Given the description of an element on the screen output the (x, y) to click on. 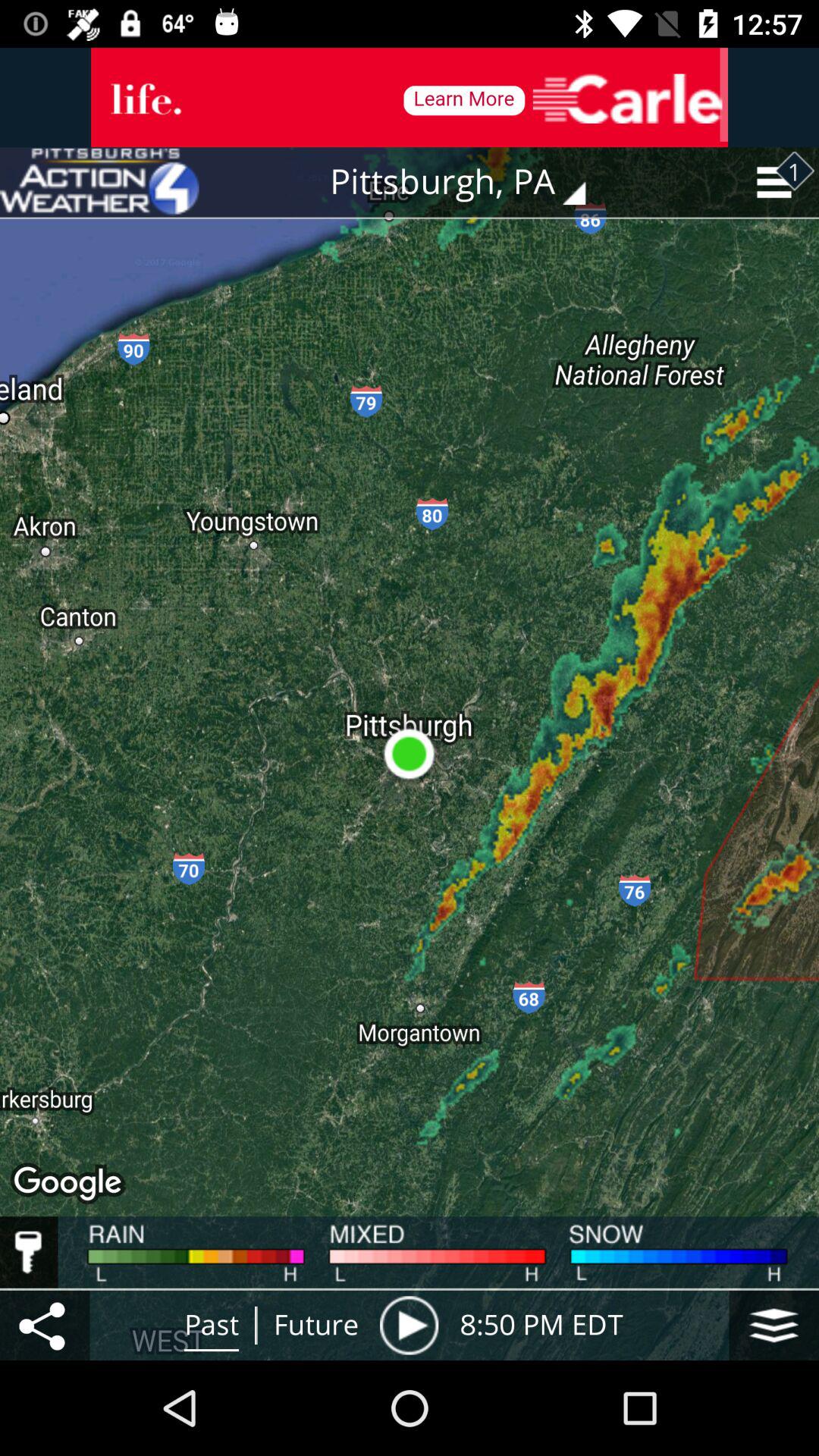
play (409, 1325)
